Given the description of an element on the screen output the (x, y) to click on. 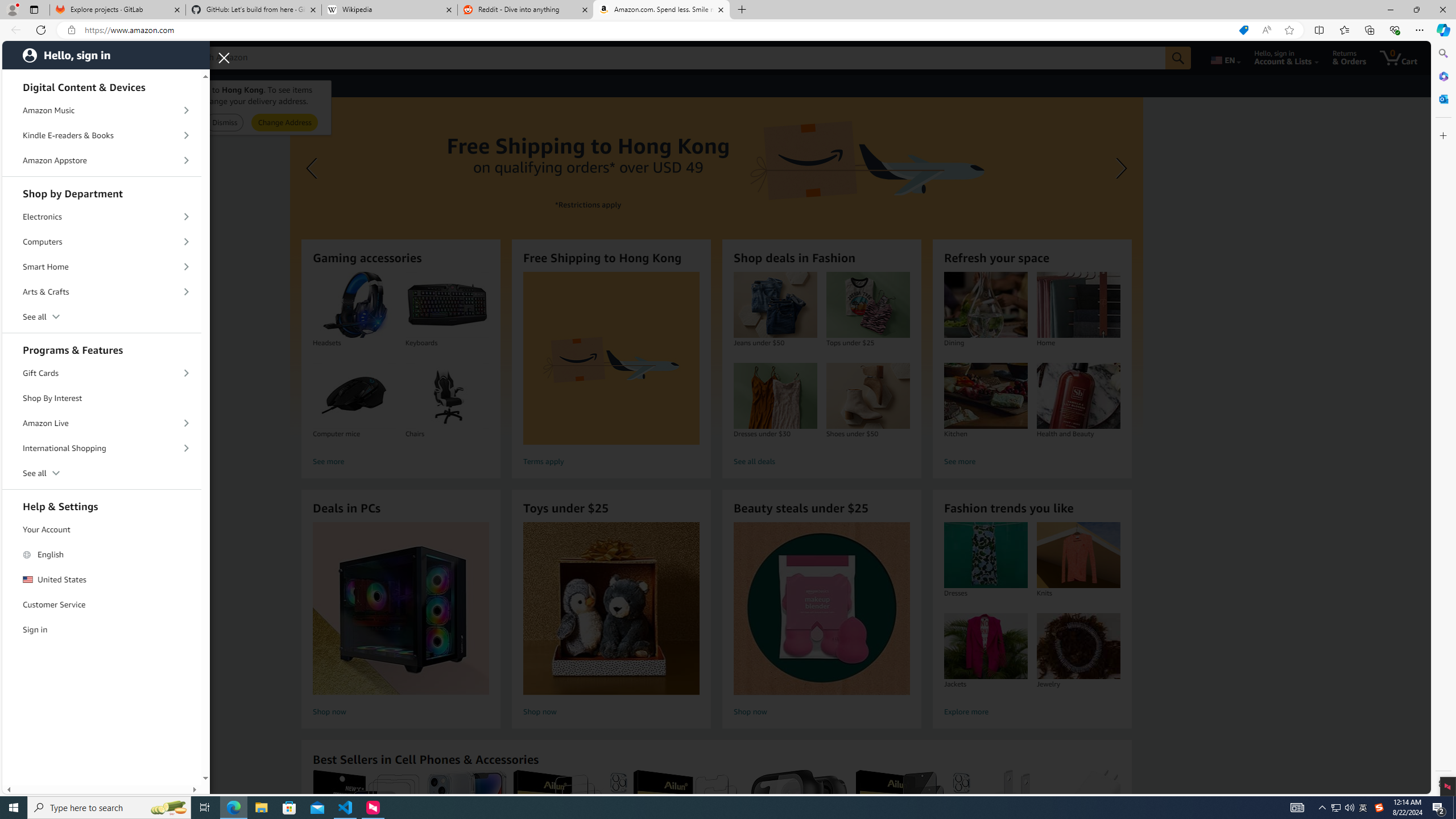
Amazon Live (101, 422)
Amazon Music (101, 110)
Electronics (101, 216)
Amazon Appstore (101, 159)
English (101, 554)
Kindle E-readers & Books (101, 135)
Digital Content & Devices (101, 85)
See all (101, 473)
